Given the description of an element on the screen output the (x, y) to click on. 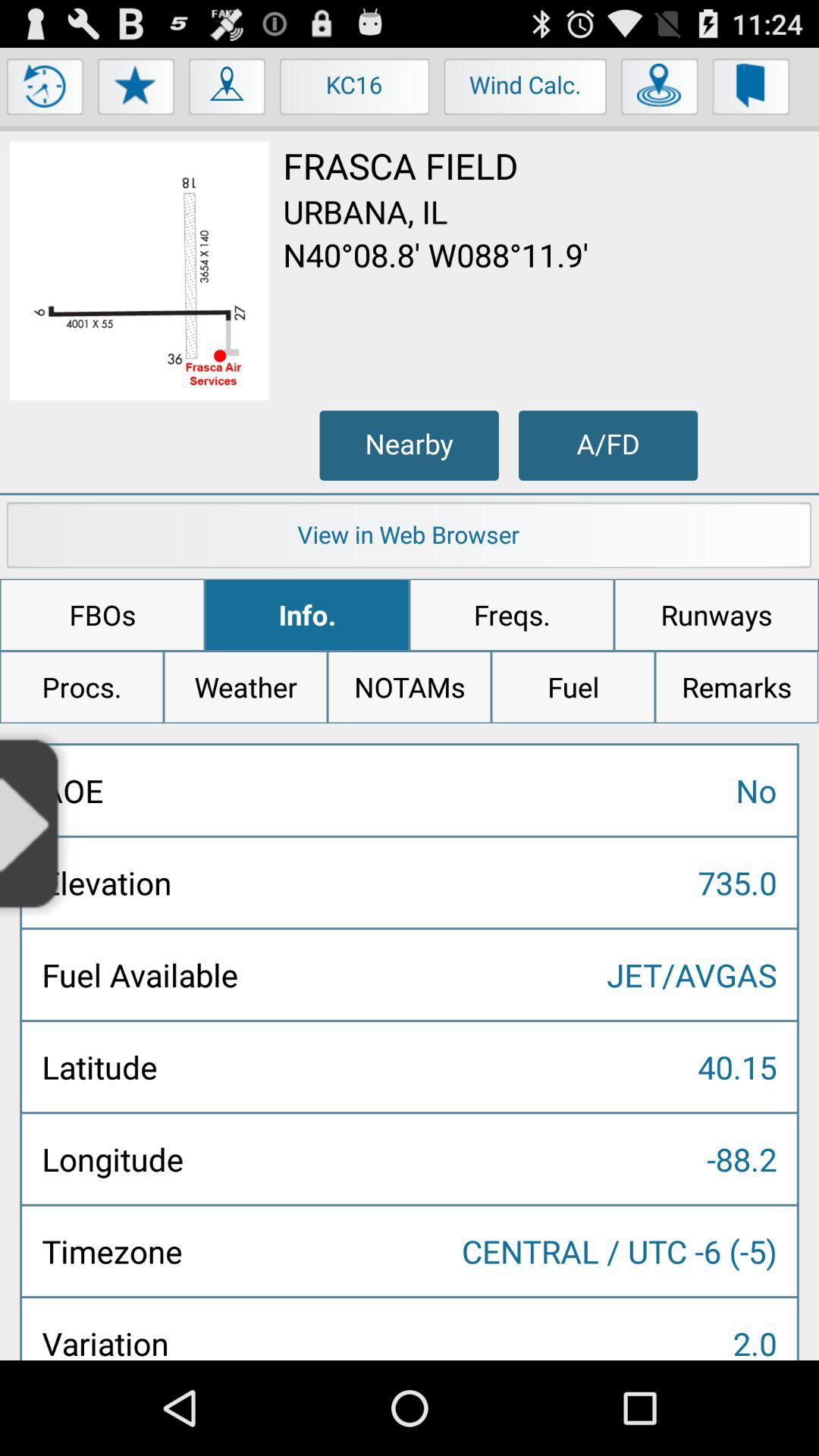
undo (45, 90)
